Given the description of an element on the screen output the (x, y) to click on. 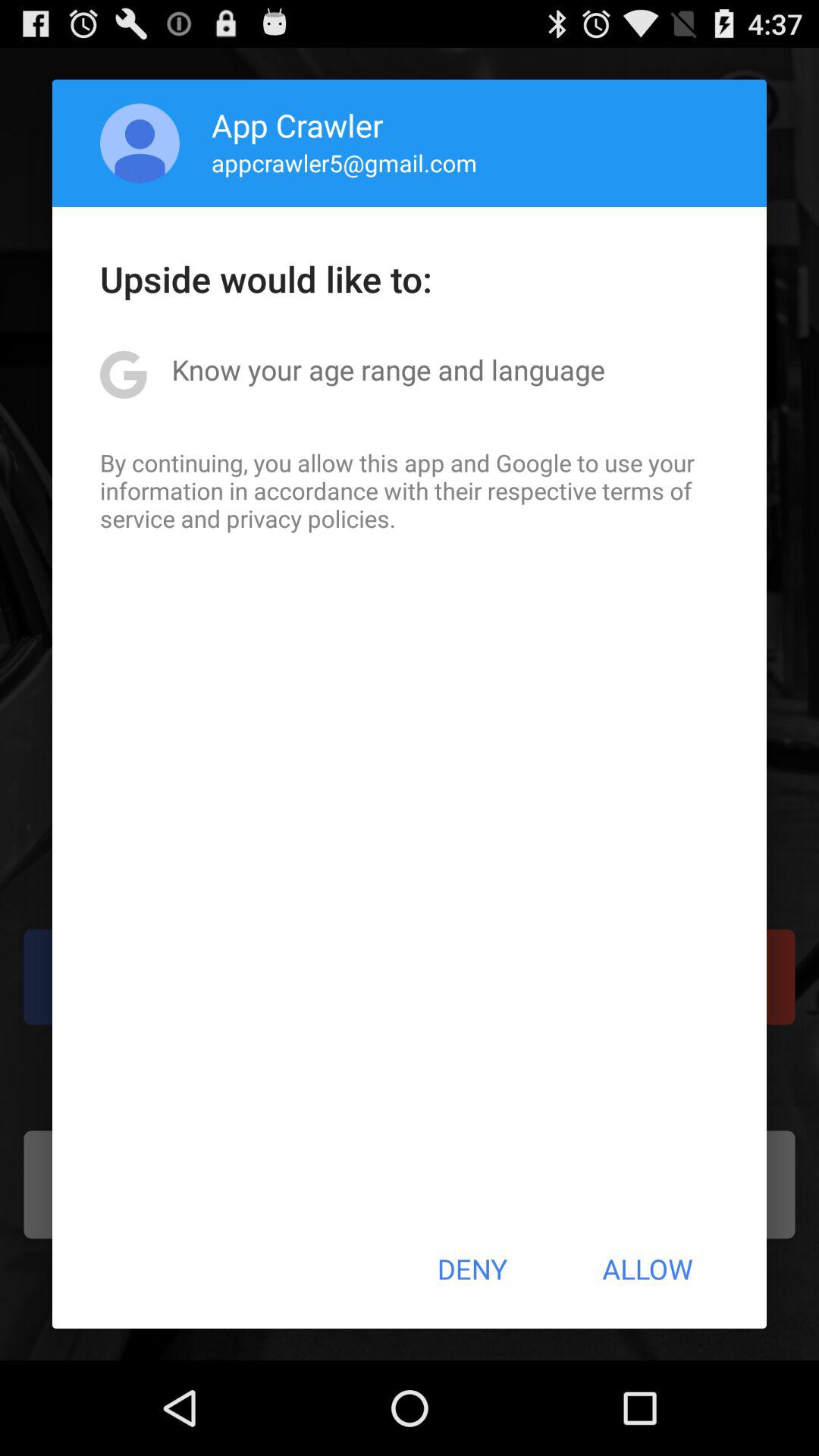
flip until the deny item (471, 1268)
